Given the description of an element on the screen output the (x, y) to click on. 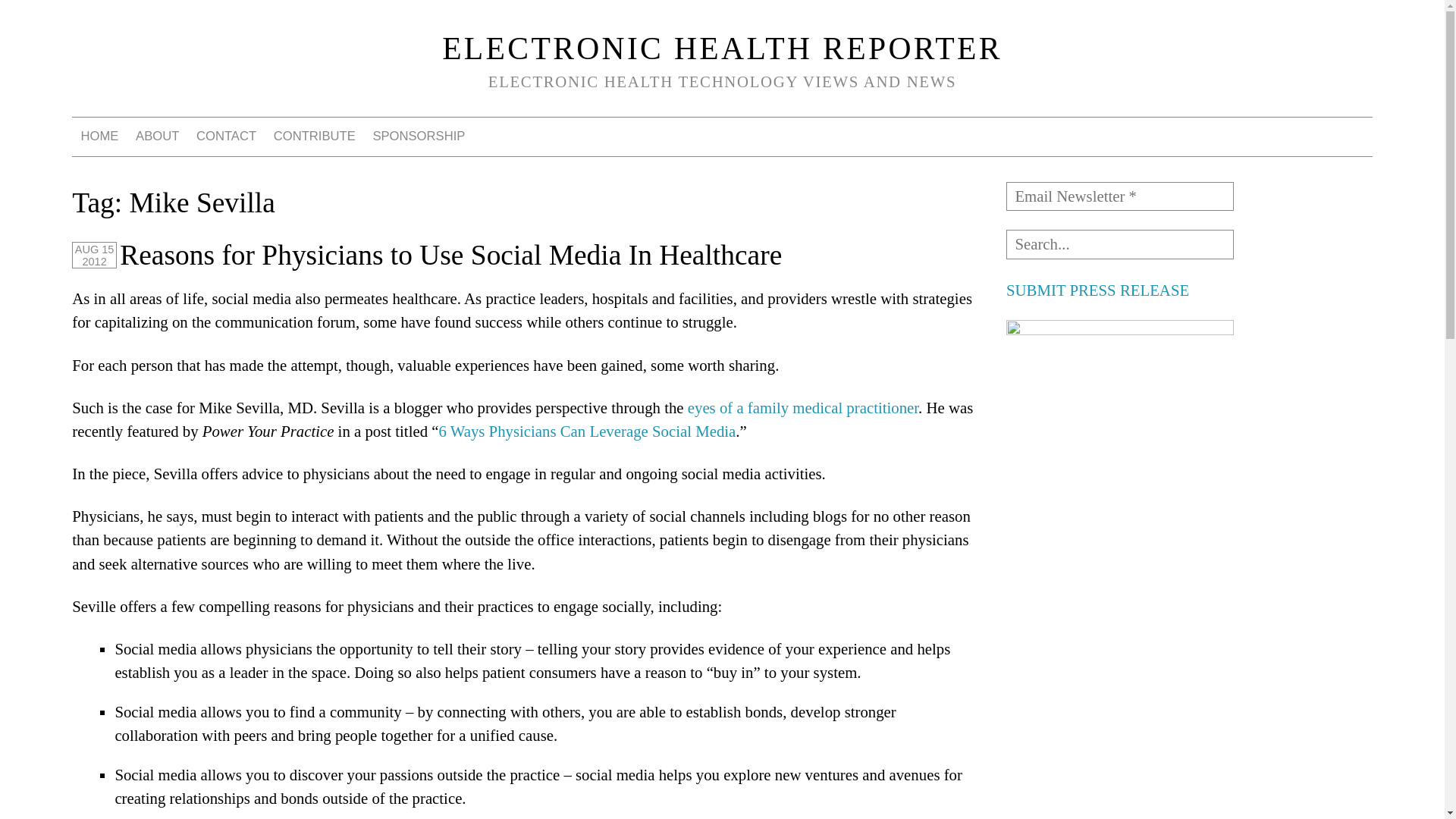
SUBMIT PRESS RELEASE (1097, 289)
SPONSORSHIP (418, 136)
ABOUT (157, 136)
CONTACT (226, 136)
Email Newsletter (1119, 195)
Reasons for Physicians to Use Social Media In Healthcare (450, 255)
Subscribe (48, 16)
HOME (99, 136)
CONTRIBUTE (313, 136)
FACEBOOK (1239, 136)
